Given the description of an element on the screen output the (x, y) to click on. 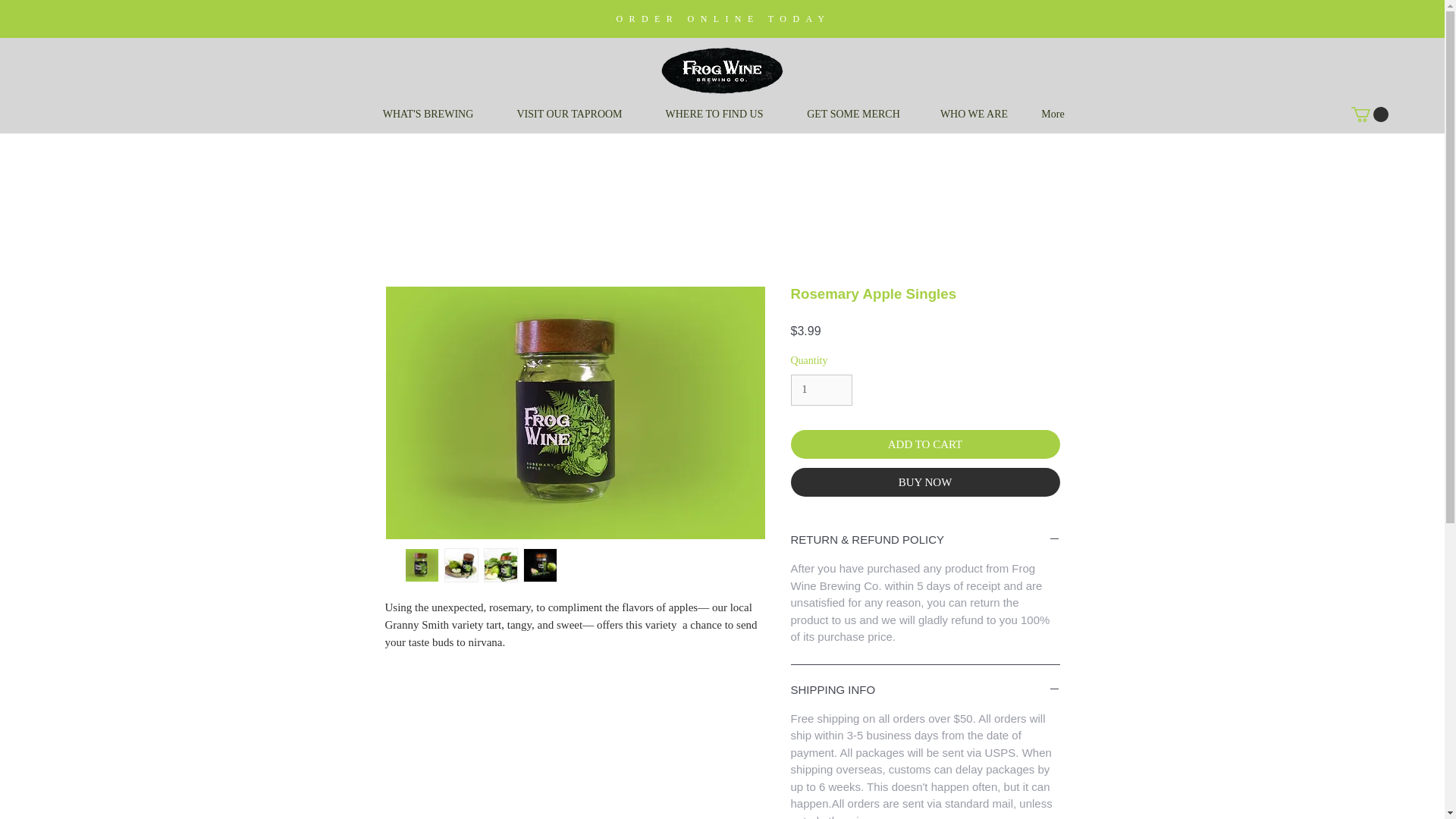
BUY NOW (924, 481)
SHIPPING INFO (924, 690)
WHAT'S BREWING (428, 114)
WHERE TO FIND US (714, 114)
WHO WE ARE (974, 114)
VISIT OUR TAPROOM (570, 114)
1 (820, 389)
ADD TO CART (924, 444)
GET SOME MERCH (853, 114)
